Given the description of an element on the screen output the (x, y) to click on. 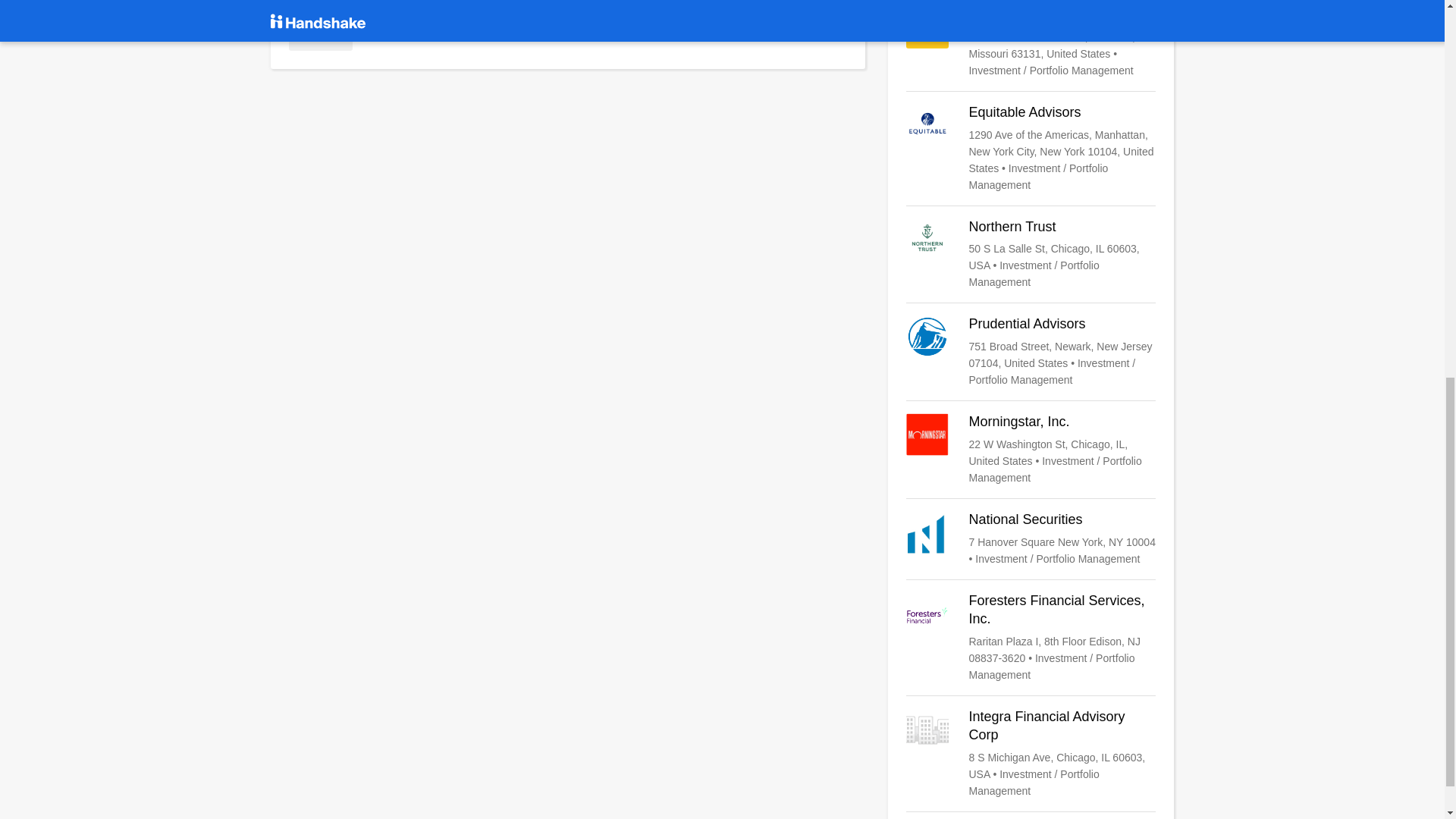
Integra Financial Advisory Corp (1030, 753)
Northern Trust (1030, 254)
Equitable Advisors (1030, 148)
Foresters Financial Services, Inc. (1030, 637)
Morningstar, Inc. (1030, 449)
Prudential Advisors (1030, 351)
National Securities (1030, 539)
See All (320, 36)
Edward Jones Investments (1030, 41)
